Given the description of an element on the screen output the (x, y) to click on. 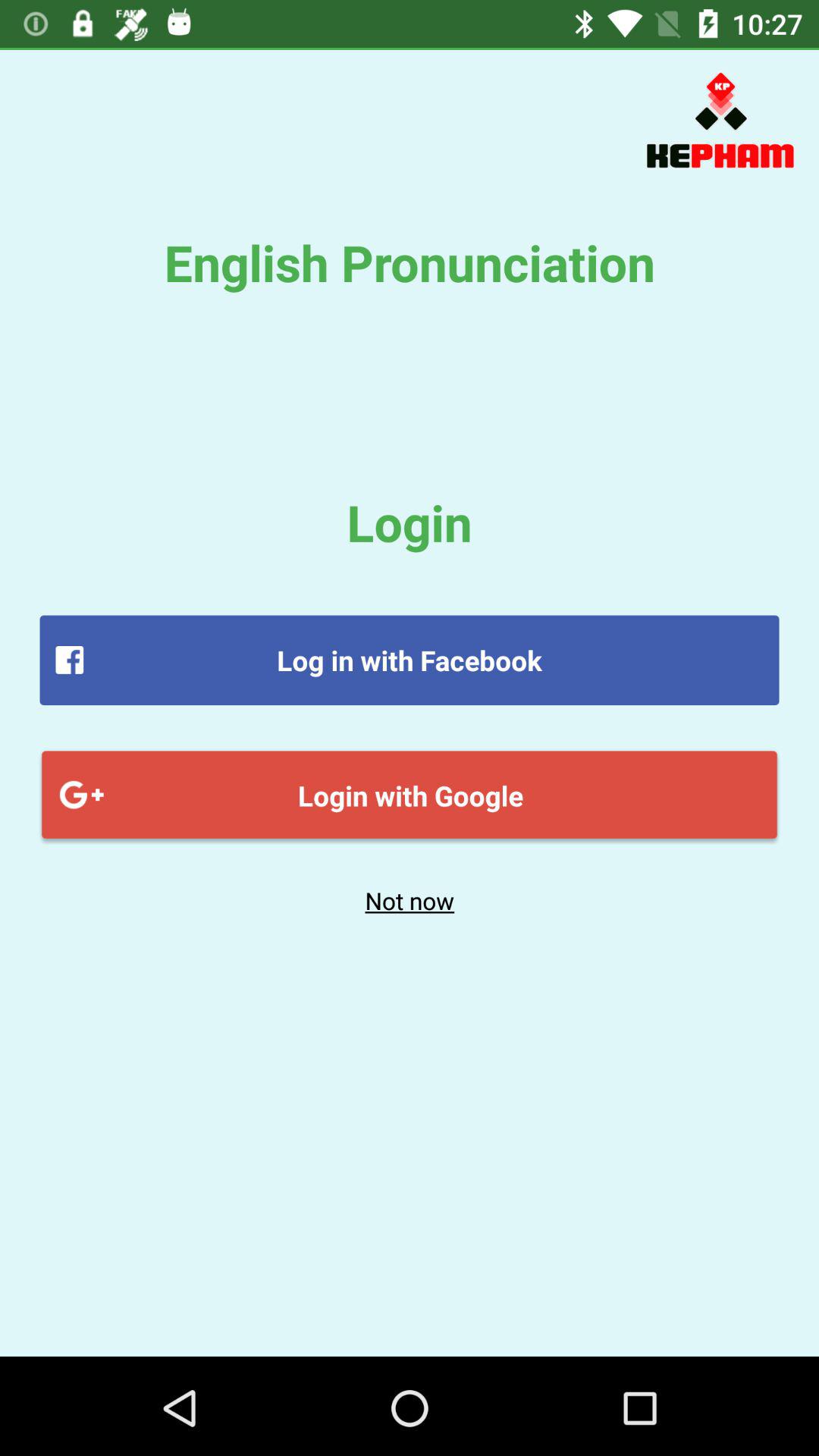
launch the item below the login with google item (409, 900)
